Given the description of an element on the screen output the (x, y) to click on. 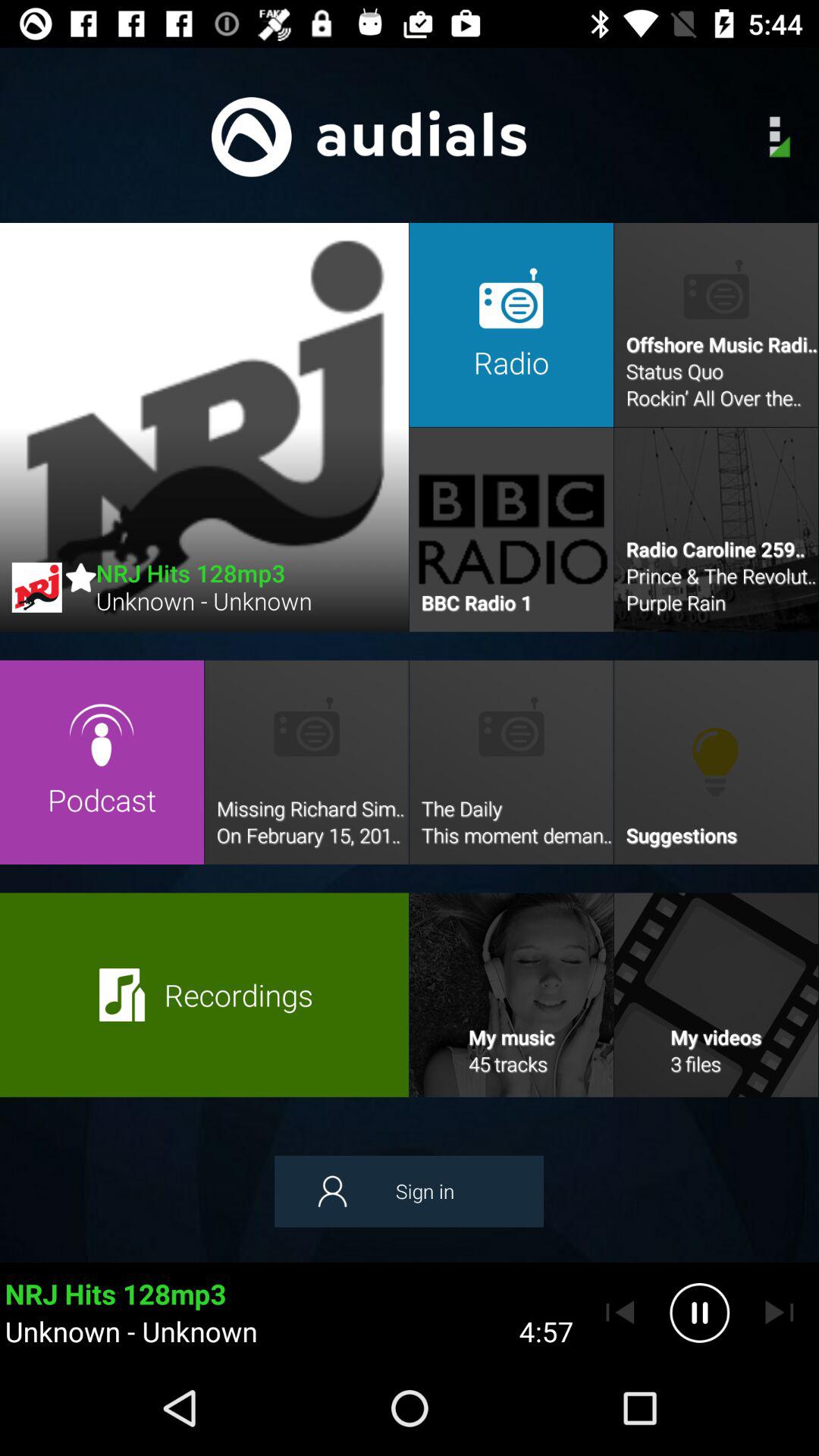
pause music (699, 1312)
